Given the description of an element on the screen output the (x, y) to click on. 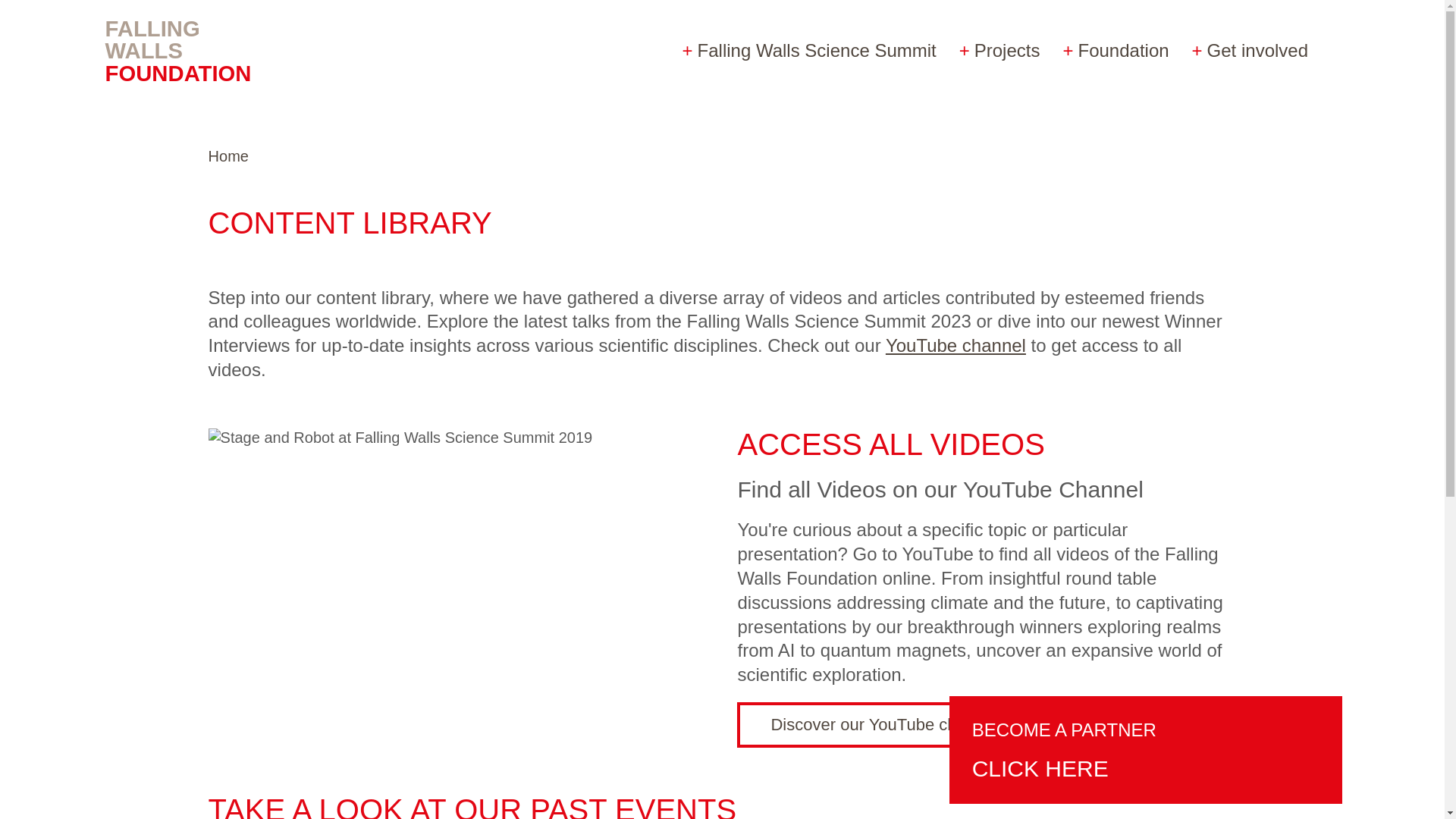
Expand menu Get involved (1249, 50)
YouTube channel (955, 344)
Home (228, 156)
Expand menu Projects (999, 50)
Expand menu Falling Walls Science Summit (809, 50)
CLICK HERE (1067, 770)
Home (188, 50)
Discover our YouTube channel (883, 724)
Expand menu Foundation (1115, 50)
Skip to main content (83, 15)
